Given the description of an element on the screen output the (x, y) to click on. 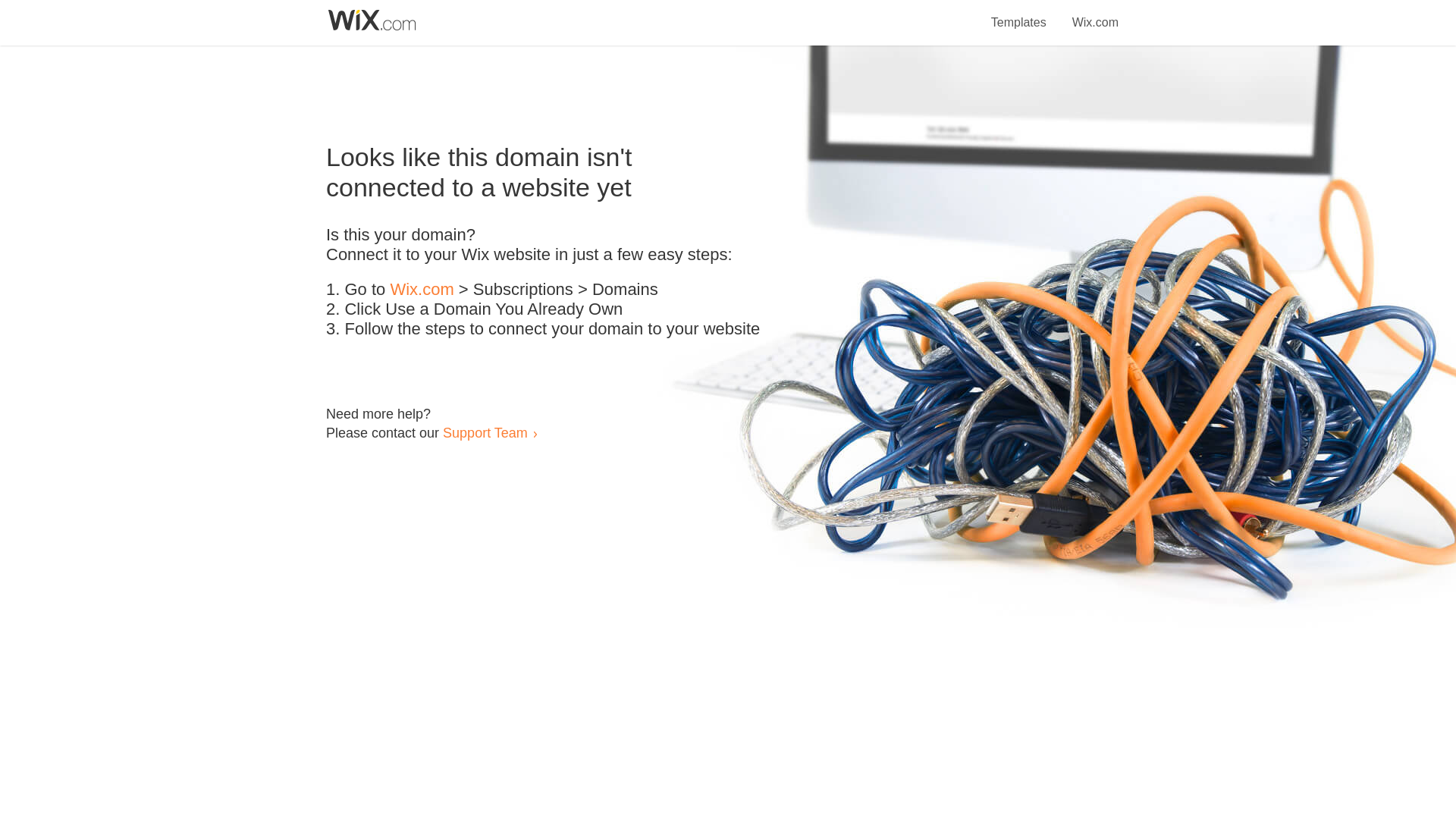
Templates (1018, 14)
Wix.com (1095, 14)
Support Team (484, 432)
Wix.com (421, 289)
